Given the description of an element on the screen output the (x, y) to click on. 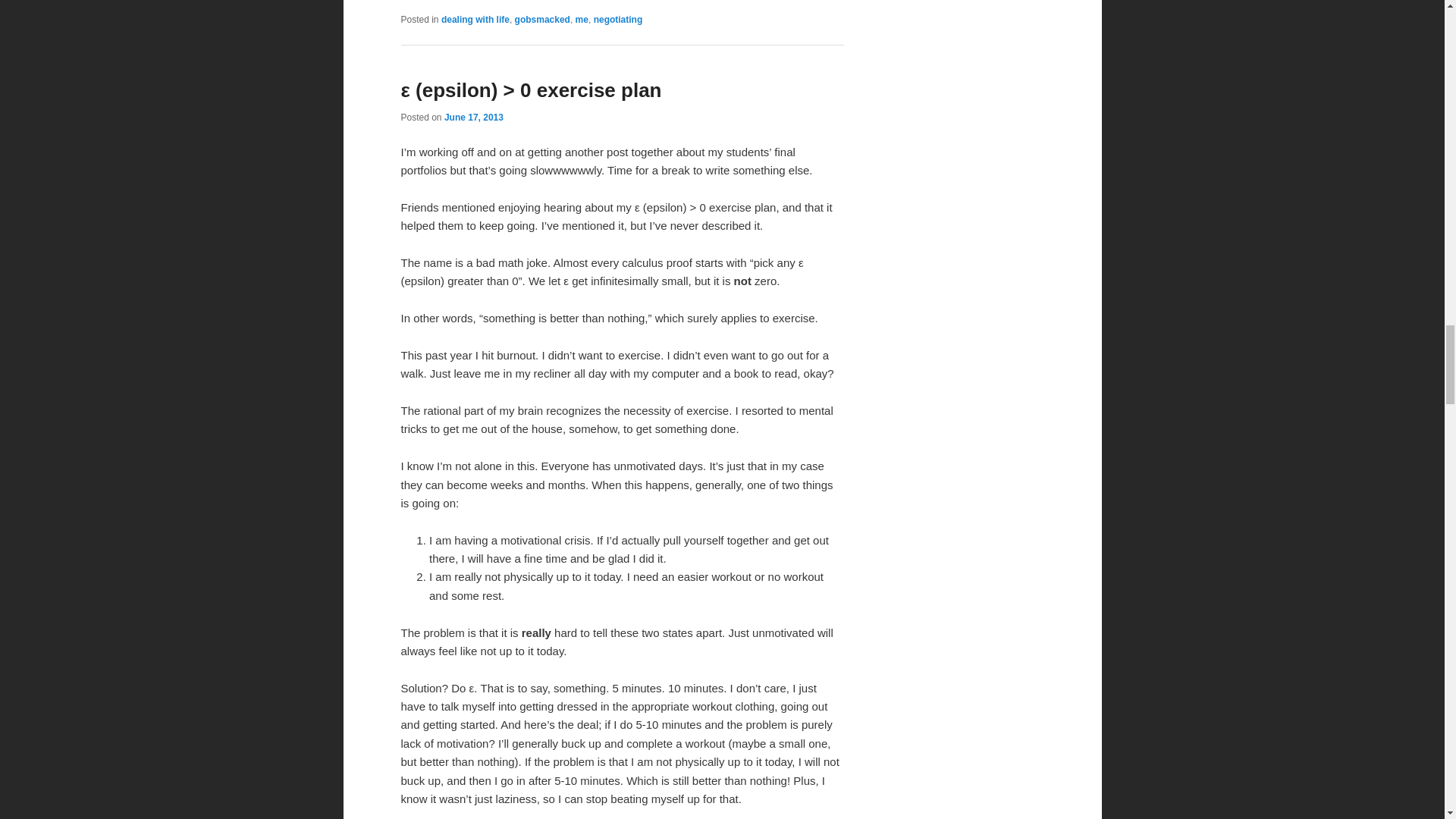
10:52 pm (473, 117)
me (581, 19)
dealing with life (475, 19)
June 17, 2013 (473, 117)
negotiating (618, 19)
gobsmacked (542, 19)
